Given the description of an element on the screen output the (x, y) to click on. 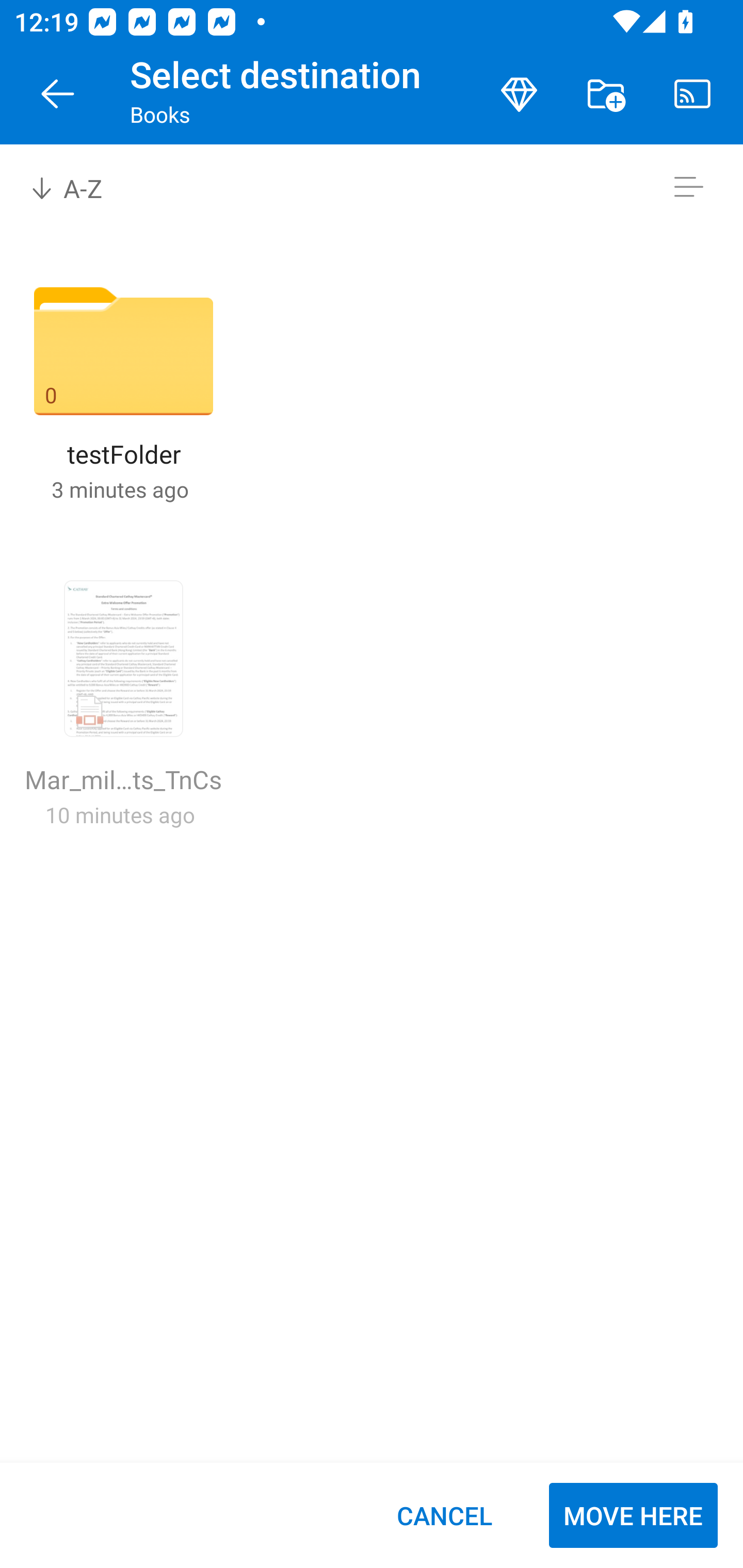
Navigate Up (57, 93)
Cast. Disconnected (692, 93)
Premium button (518, 93)
More actions button (605, 93)
A-Z Sort by combo box, sort by name, A to Z (80, 187)
Switch to list view (688, 187)
Folder Folder 0 0 items testFolder 3 minutes ago (123, 393)
3 minutes ago (119, 489)
10 minutes ago (119, 814)
CANCEL (443, 1515)
MOVE HERE (633, 1515)
